Given the description of an element on the screen output the (x, y) to click on. 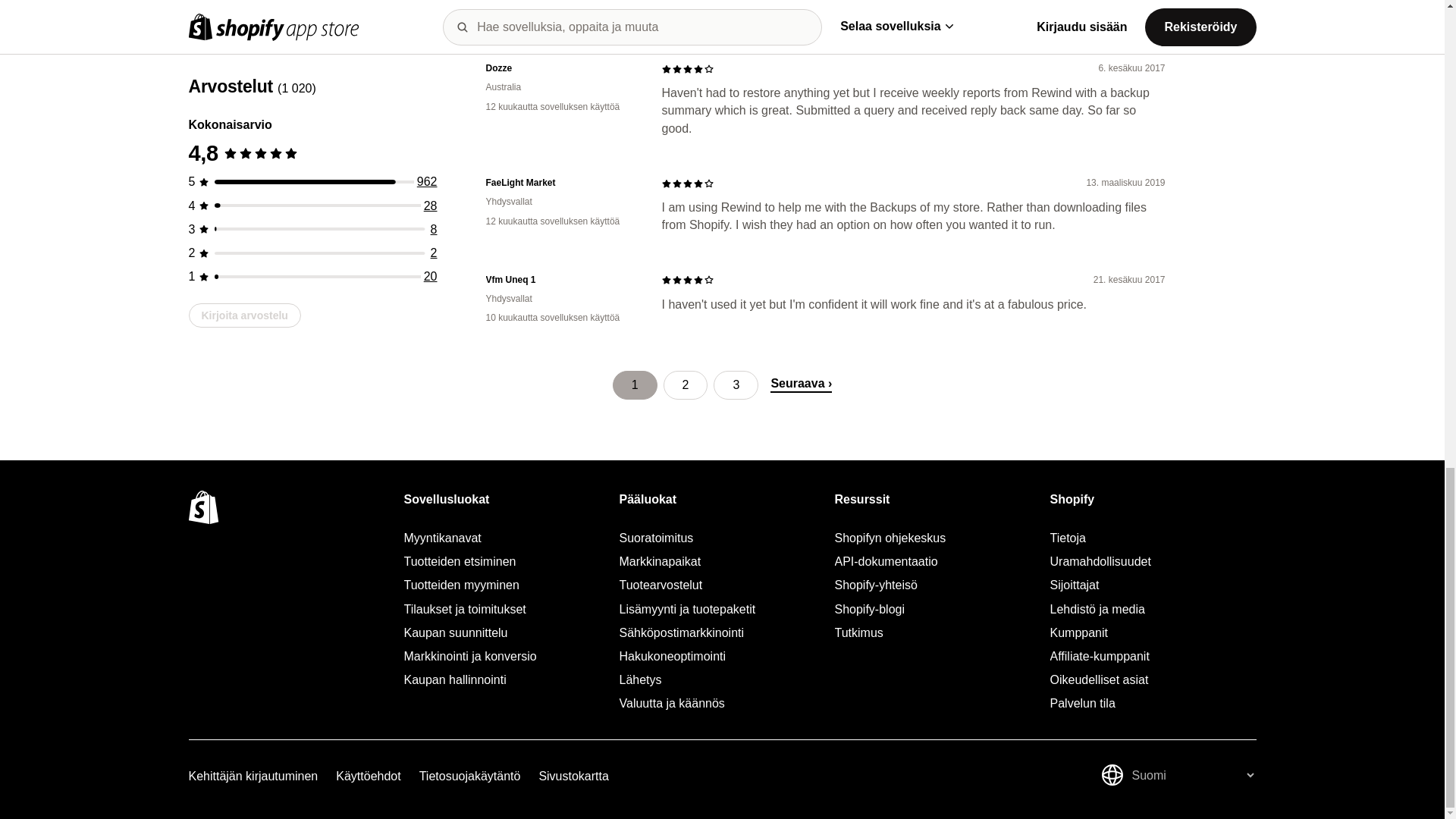
Dozze (560, 68)
FaeLight Market (560, 182)
Vfm Uneq 1 (560, 279)
